Given the description of an element on the screen output the (x, y) to click on. 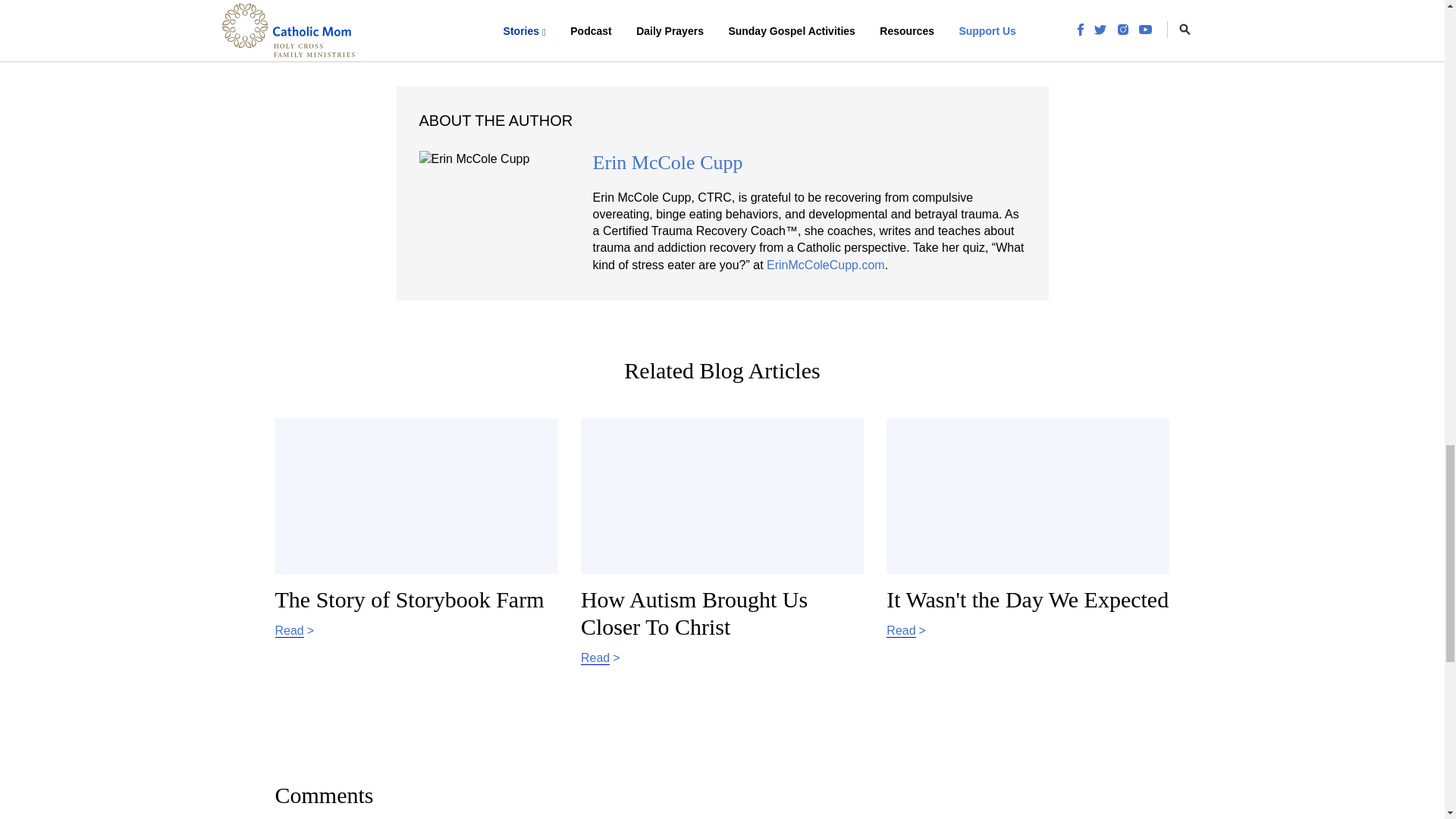
ErinMcColeCupp.com (1027, 537)
Erin McCole Cupp (826, 264)
